Given the description of an element on the screen output the (x, y) to click on. 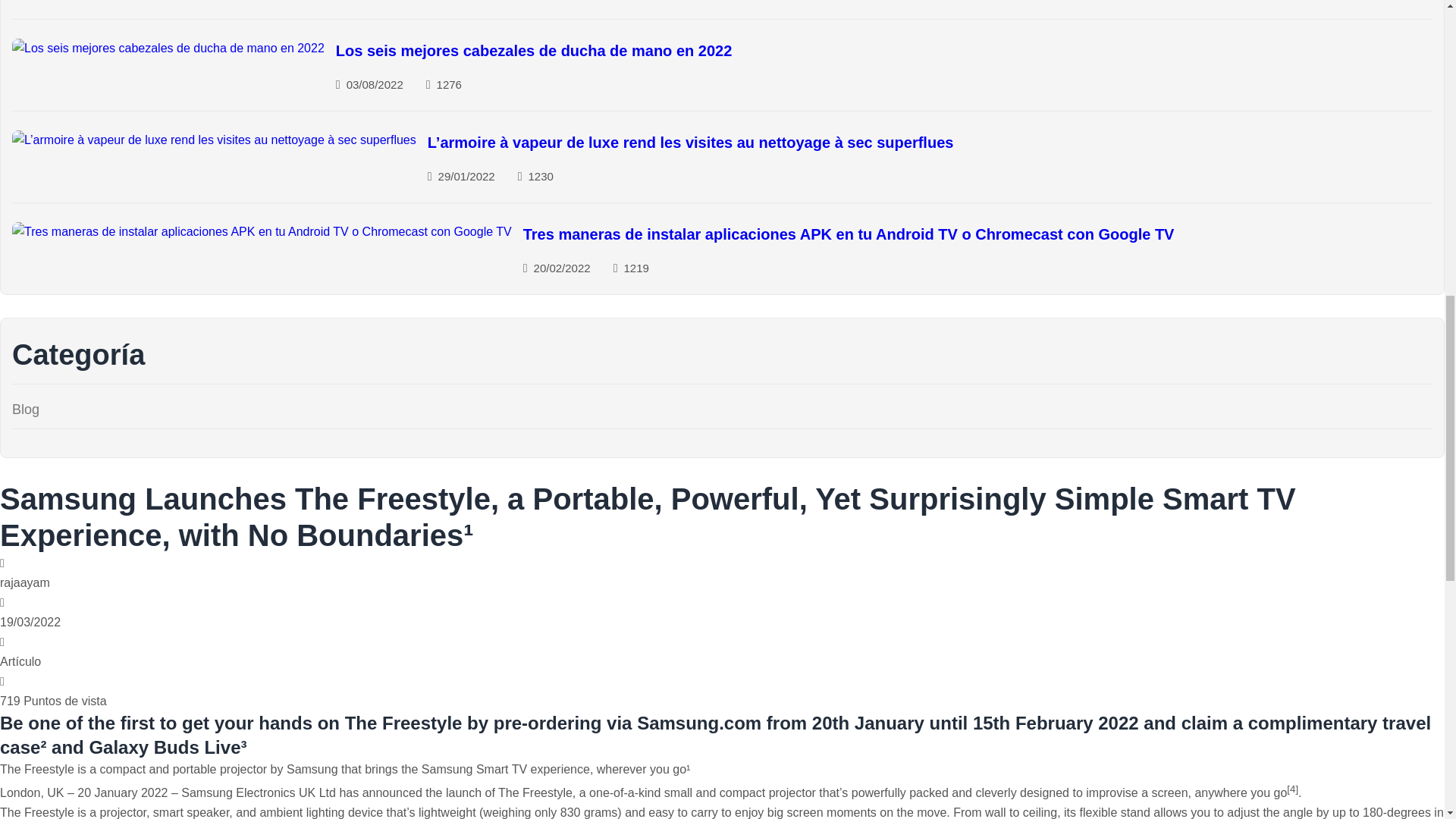
Blog (25, 409)
719 Puntos de vista (53, 691)
rajaayam (24, 572)
Los seis mejores cabezales de ducha de mano en 2022 (534, 50)
Los seis mejores cabezales de ducha de mano en 2022 (167, 48)
Los seis mejores cabezales de ducha de mano en 2022 (534, 50)
